Given the description of an element on the screen output the (x, y) to click on. 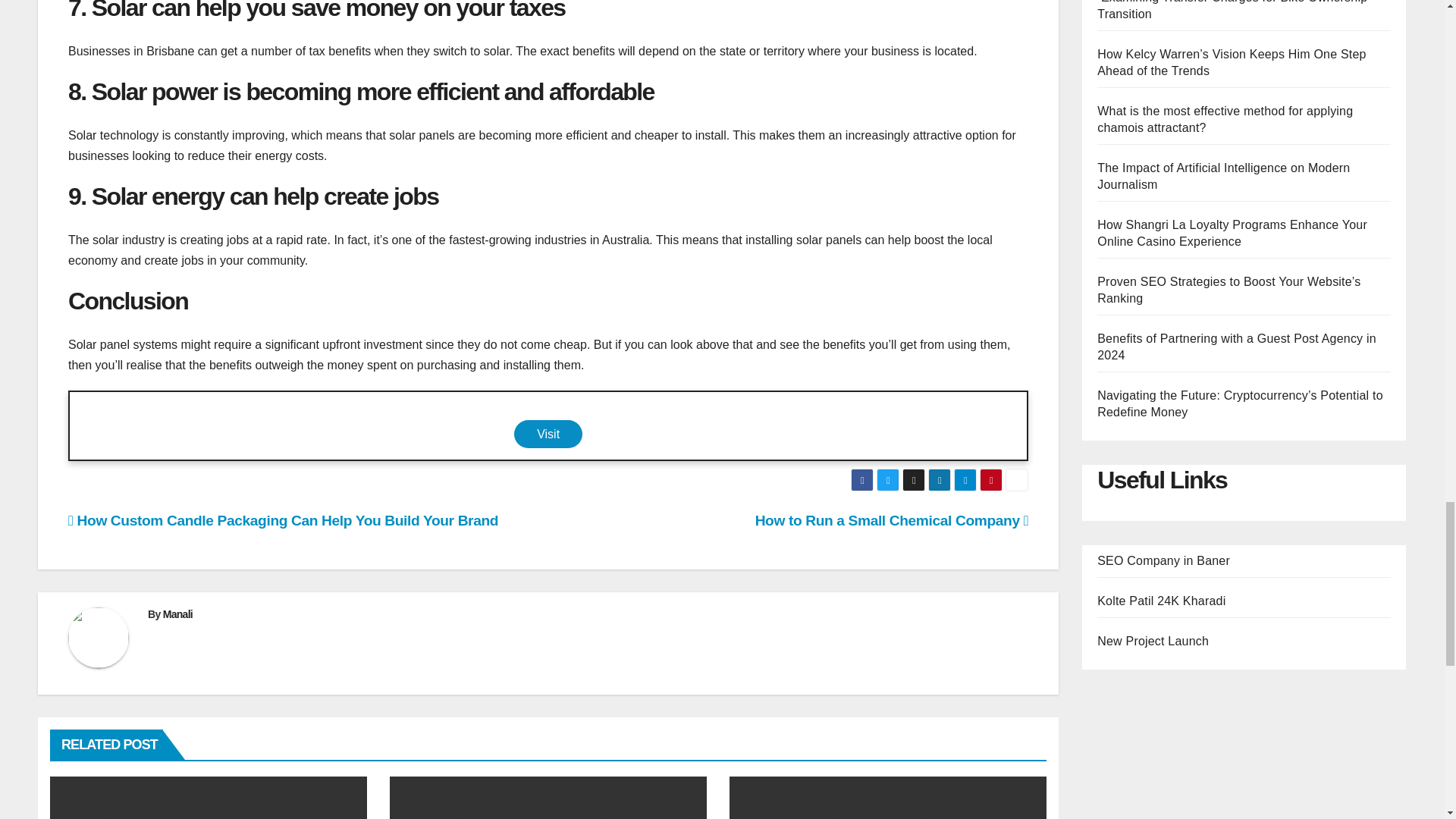
How Custom Candle Packaging Can Help You Build Your Brand (282, 520)
How to Run a Small Chemical Company (892, 520)
Visit (547, 433)
